Given the description of an element on the screen output the (x, y) to click on. 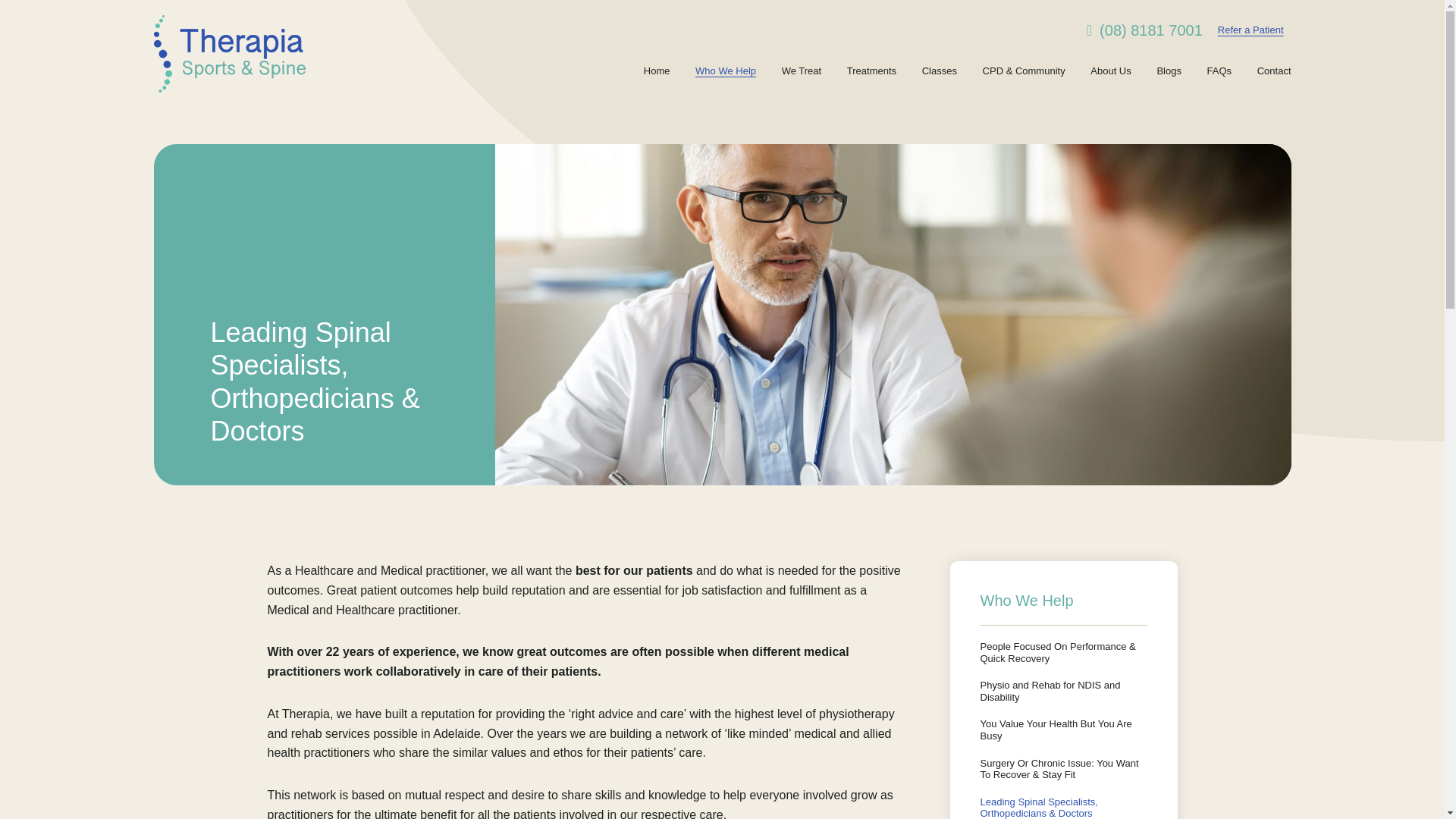
Refer a Patient (1250, 30)
Treatments (871, 71)
We Treat (801, 71)
Classes (938, 71)
Who We Help (725, 71)
